Given the description of an element on the screen output the (x, y) to click on. 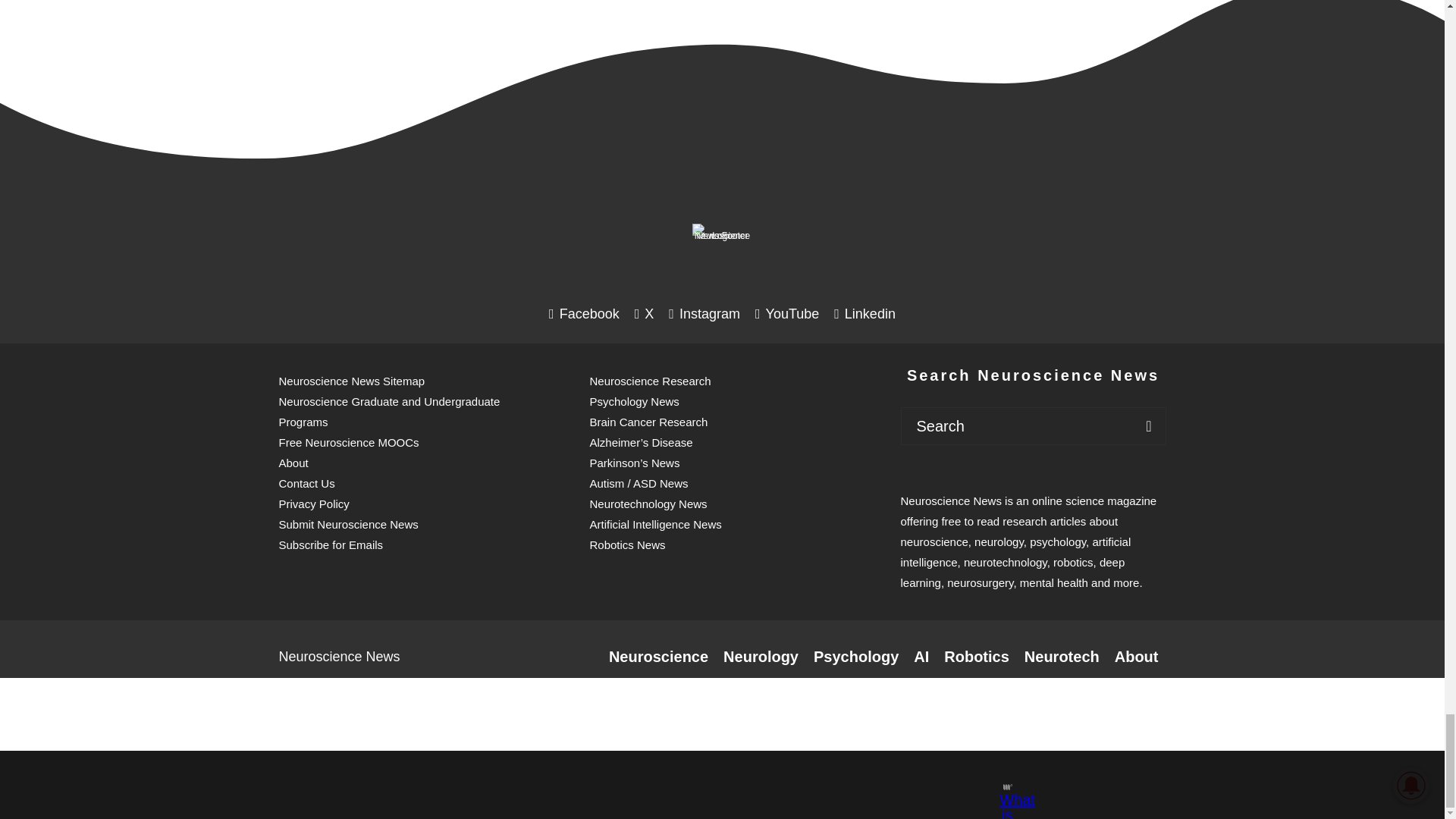
Neurology Research Articles (760, 656)
Neuroscience Research (657, 656)
Psychology Research Articles (855, 656)
